Given the description of an element on the screen output the (x, y) to click on. 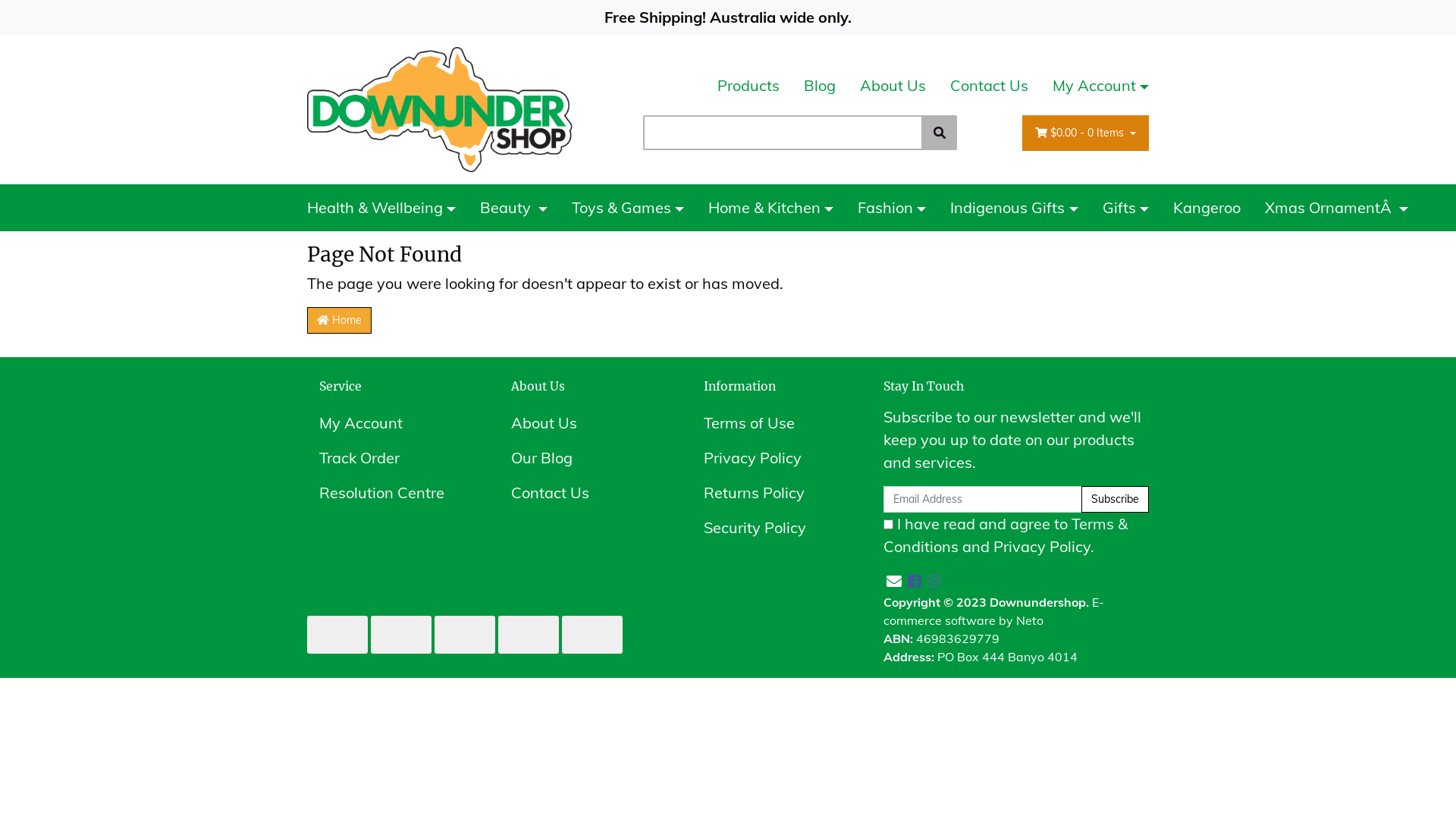
Track Order Element type: text (391, 457)
Home & Kitchen Element type: text (770, 207)
Privacy Policy Element type: text (1041, 545)
Email us Element type: hover (893, 580)
Returns Policy Element type: text (775, 492)
Indigenous Gifts Element type: text (1013, 207)
About Us Element type: text (892, 85)
About Us Element type: text (583, 422)
Contact Us Element type: text (583, 492)
Downundershop Element type: hover (439, 106)
Home Element type: text (339, 320)
Neto Element type: text (1029, 619)
Our Blog Element type: text (583, 457)
Instagram Element type: text (934, 580)
My Account Element type: text (1094, 85)
Kangeroo Element type: text (1206, 207)
Facebook Element type: text (914, 580)
Subscribe Element type: text (1114, 499)
Resolution Centre Element type: text (391, 492)
Gifts Element type: text (1125, 207)
Terms & Conditions Element type: text (1005, 534)
Contact Us Element type: text (989, 85)
Toys & Games Element type: text (627, 207)
Privacy Policy Element type: text (775, 457)
$0.00 - 0 Items Element type: text (1085, 132)
My Account Element type: text (391, 422)
Products Element type: text (748, 85)
Terms of Use Element type: text (775, 422)
Health & Wellbeing Element type: text (387, 207)
Blog Element type: text (819, 85)
Search Element type: text (939, 132)
Security Policy Element type: text (775, 527)
Fashion Element type: text (891, 207)
Beauty Element type: text (513, 207)
